Given the description of an element on the screen output the (x, y) to click on. 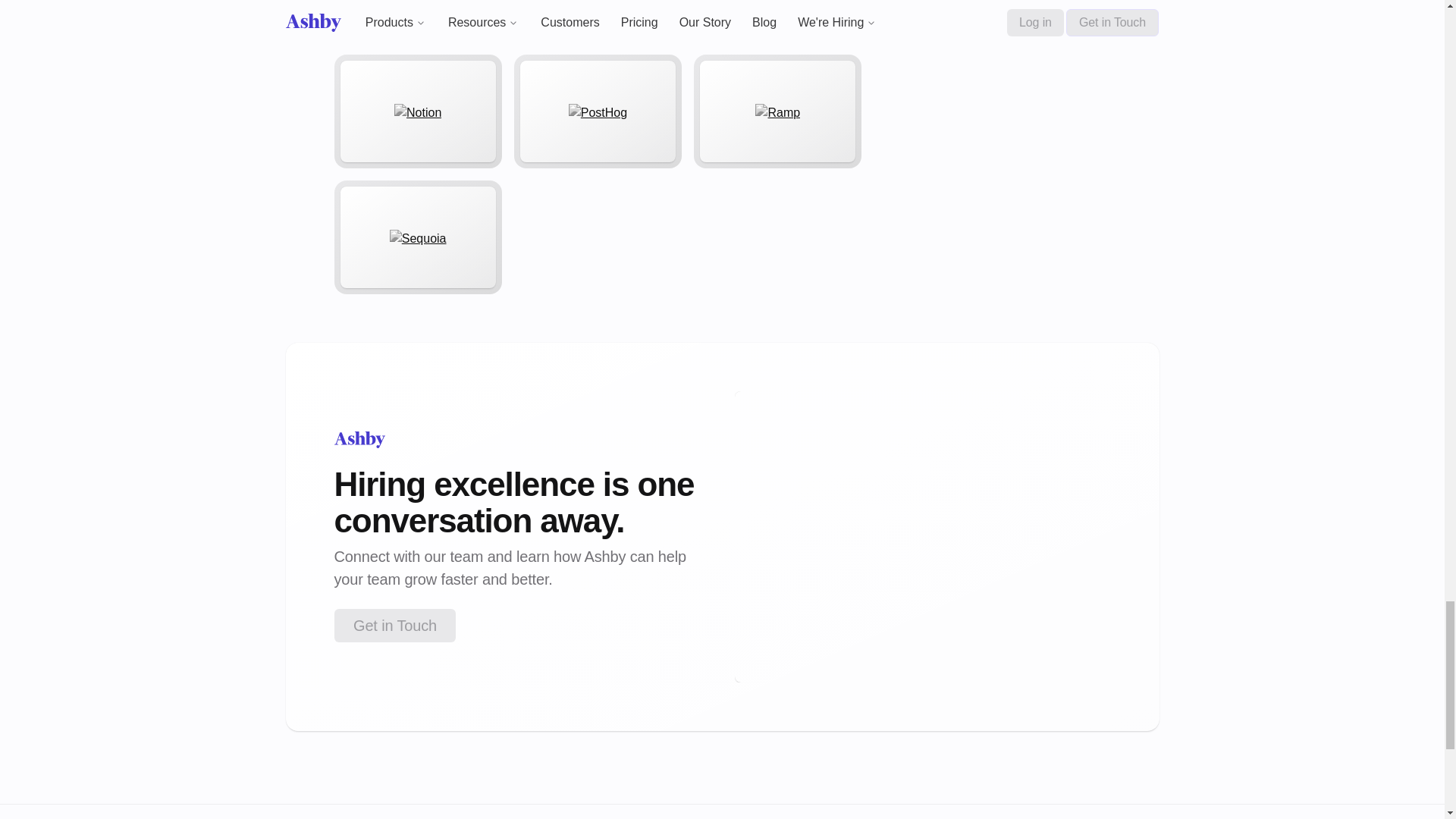
Get in Touch (393, 625)
